Given the description of an element on the screen output the (x, y) to click on. 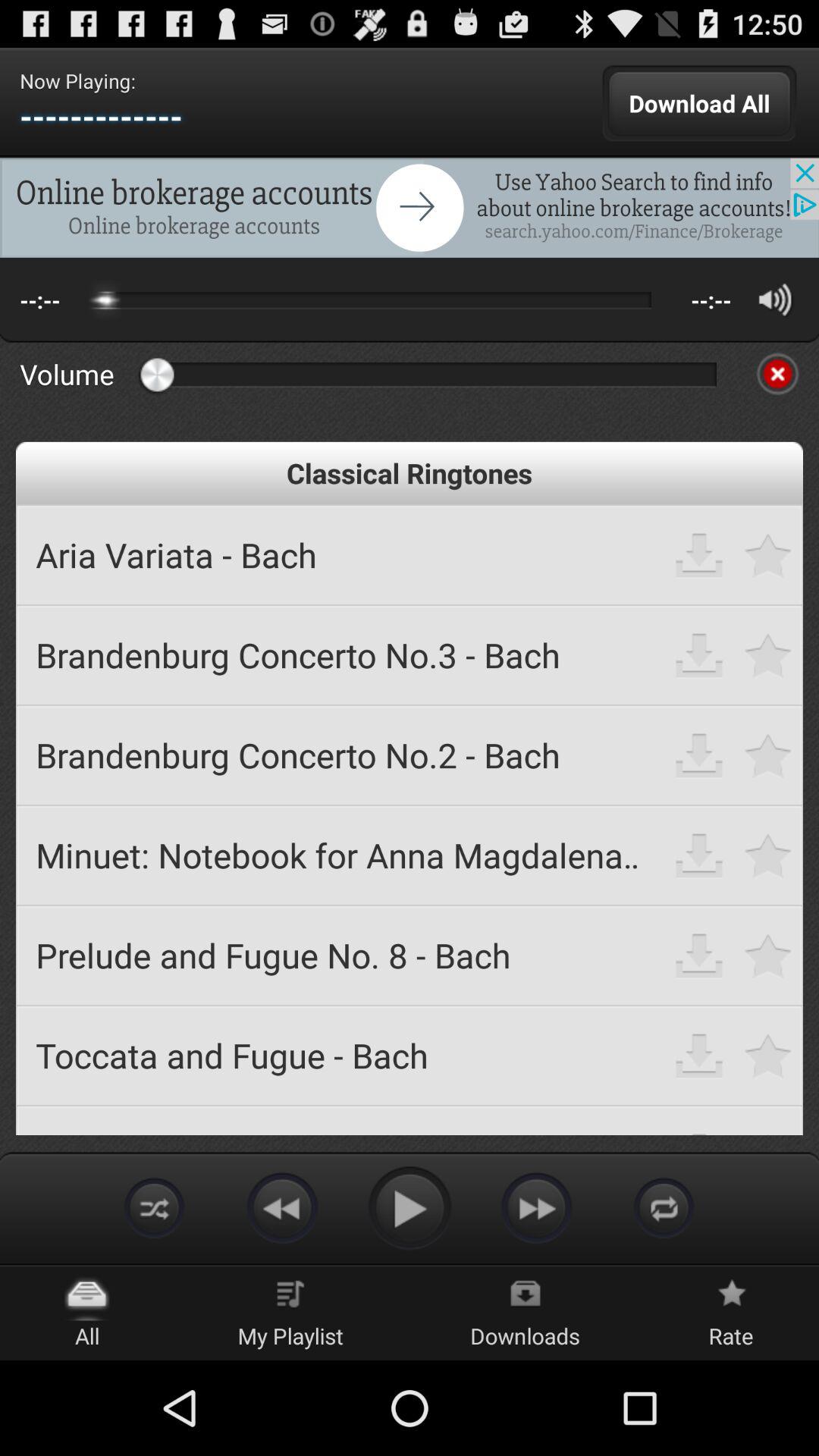
mark as favorite (768, 654)
